Given the description of an element on the screen output the (x, y) to click on. 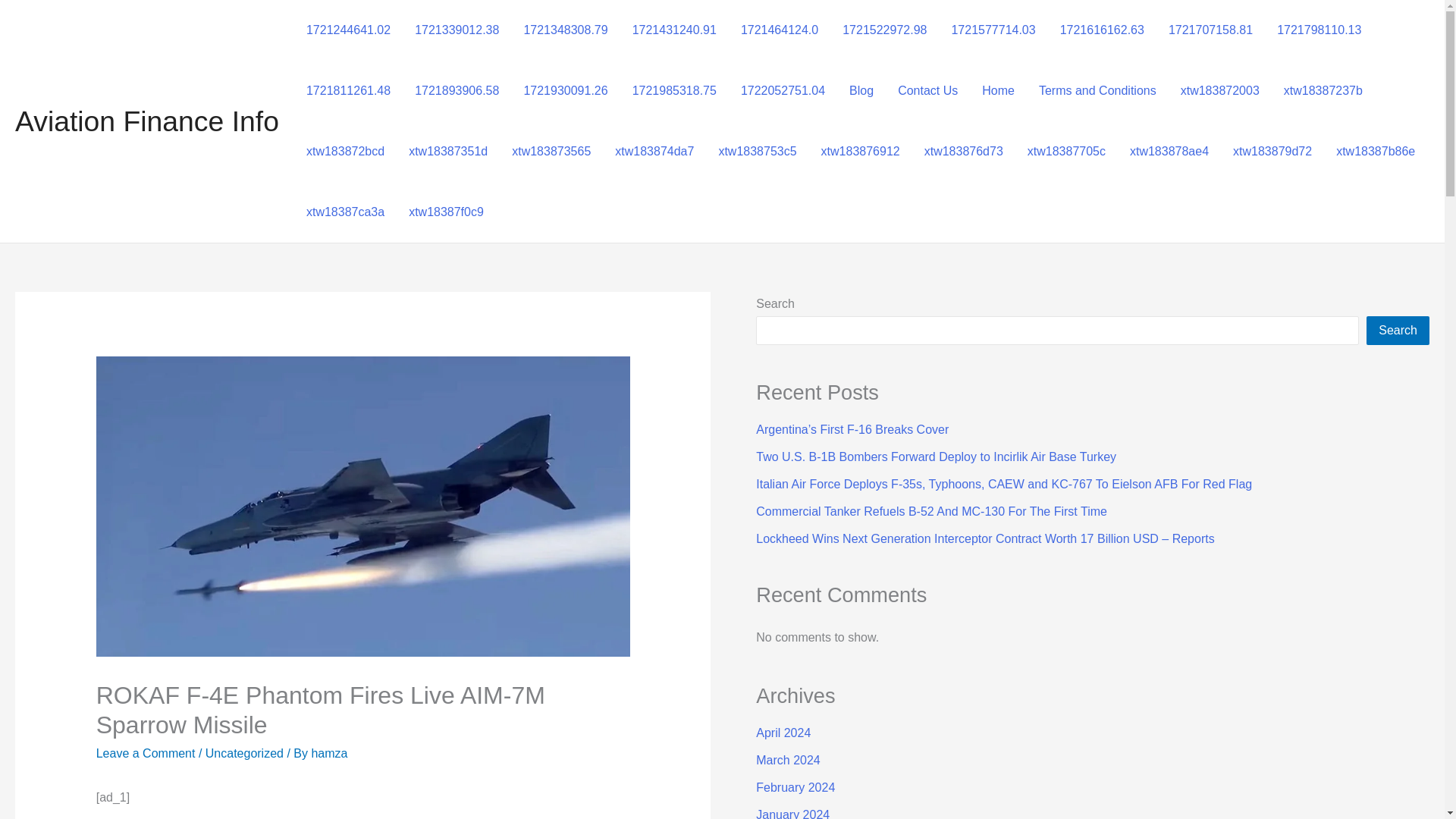
1721464124.0 (779, 30)
xtw183872bcd (345, 151)
1721616162.63 (1102, 30)
xtw18387237b (1322, 90)
xtw18387ca3a (345, 211)
xtw18387b86e (1374, 151)
1721930091.26 (565, 90)
1721577714.03 (992, 30)
1721893906.58 (457, 90)
1721339012.38 (457, 30)
xtw183878ae4 (1169, 151)
1721798110.13 (1319, 30)
View all posts by hamza (329, 752)
1721244641.02 (348, 30)
xtw18387351d (447, 151)
